Given the description of an element on the screen output the (x, y) to click on. 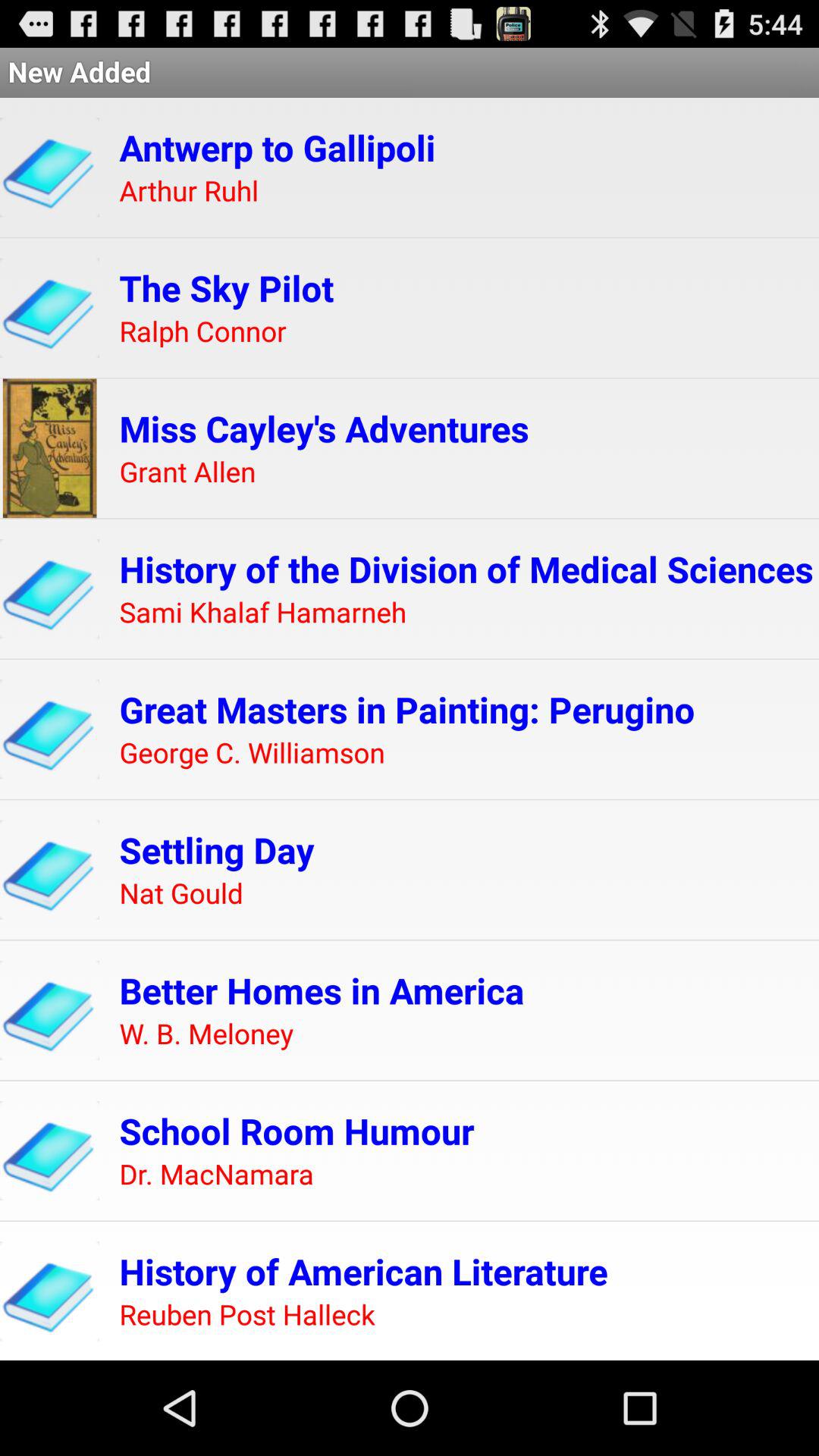
choose item above history of american app (216, 1174)
